Given the description of an element on the screen output the (x, y) to click on. 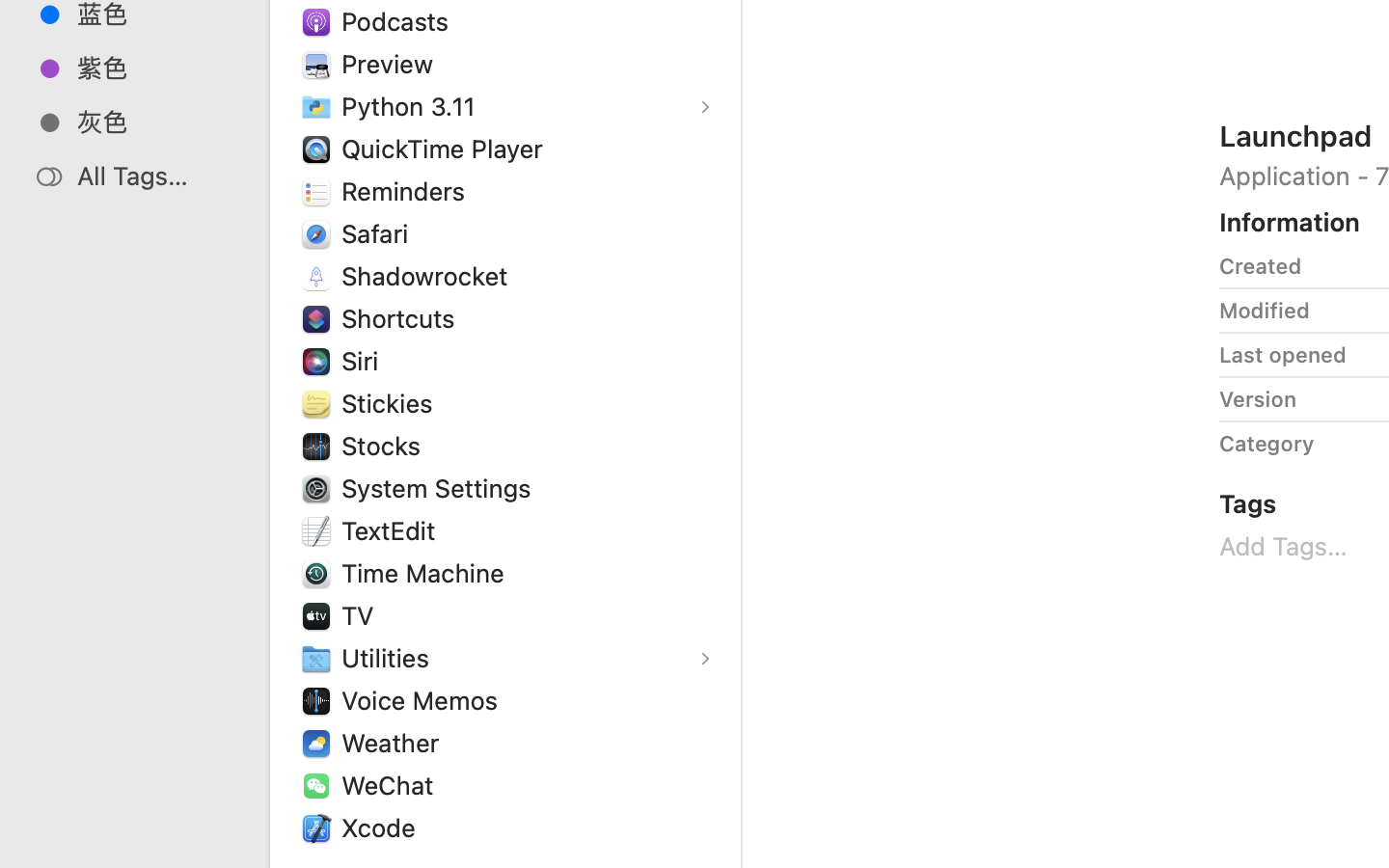
Category Element type: AXStaticText (1266, 443)
QuickTime Player Element type: AXTextField (446, 148)
Last opened Element type: AXStaticText (1282, 354)
